Given the description of an element on the screen output the (x, y) to click on. 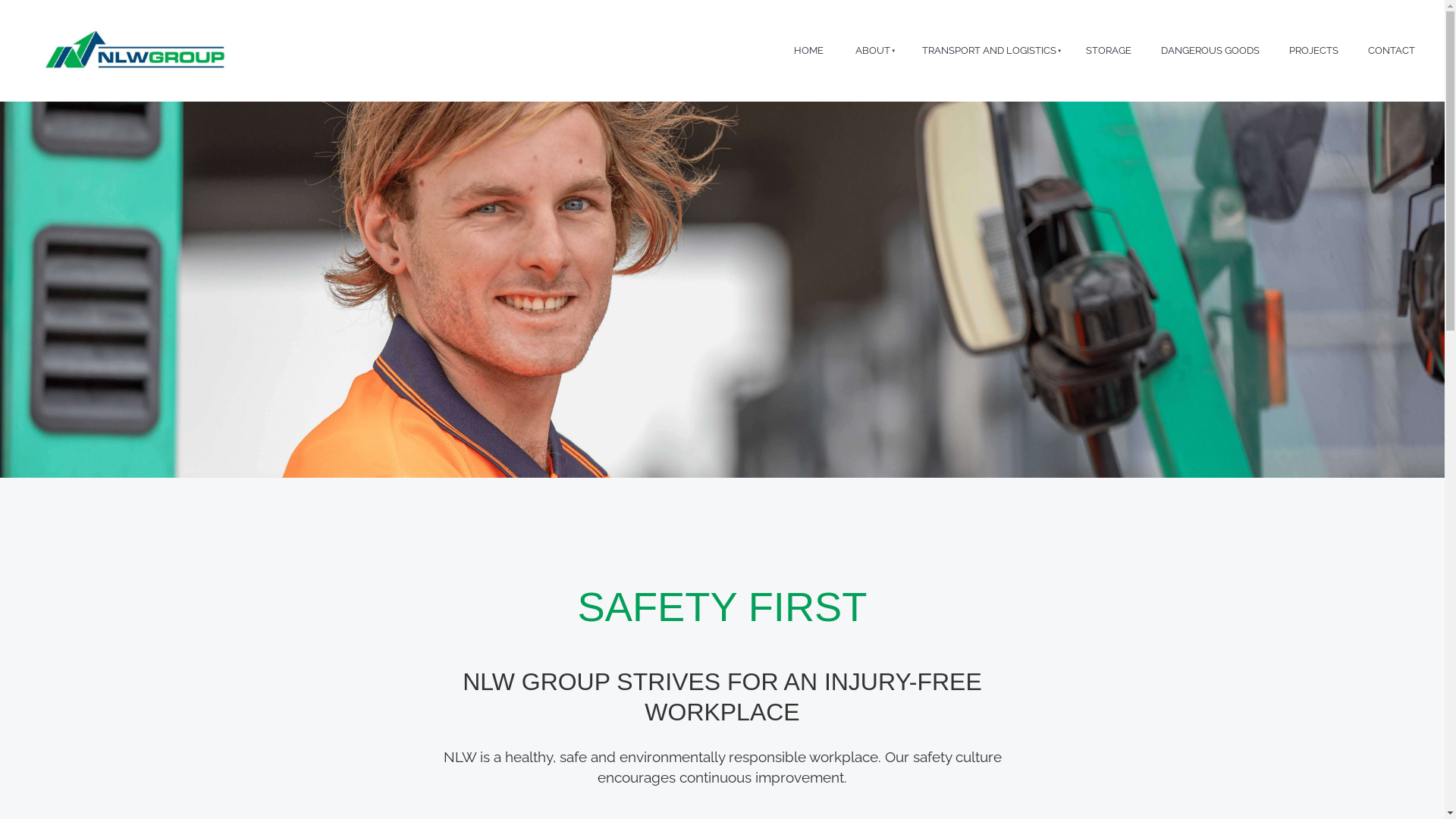
TRANSPORT AND LOGISTICS Element type: text (987, 50)
STORAGE Element type: text (1107, 50)
HOME Element type: text (807, 50)
CONTACT Element type: text (1390, 50)
DANGEROUS GOODS Element type: text (1209, 50)
ABOUT Element type: text (870, 50)
PROJECTS Element type: text (1313, 50)
